Given the description of an element on the screen output the (x, y) to click on. 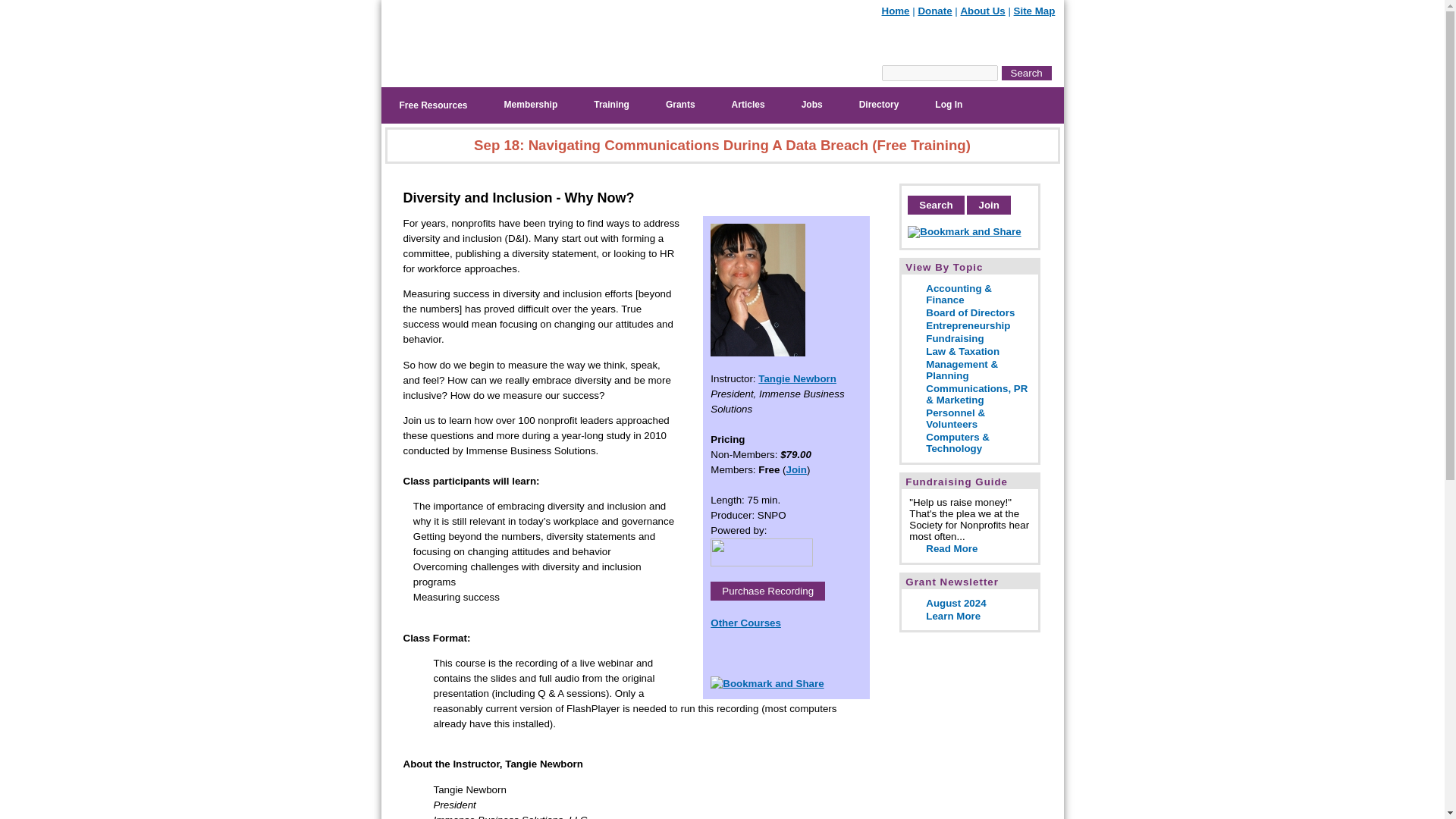
Home (894, 10)
Donate (934, 10)
Membership (530, 104)
Purchase Recording (767, 590)
Grants (680, 104)
Membership (531, 104)
Free Resources (432, 104)
About Us (981, 10)
Training (611, 104)
Articles (748, 104)
